Given the description of an element on the screen output the (x, y) to click on. 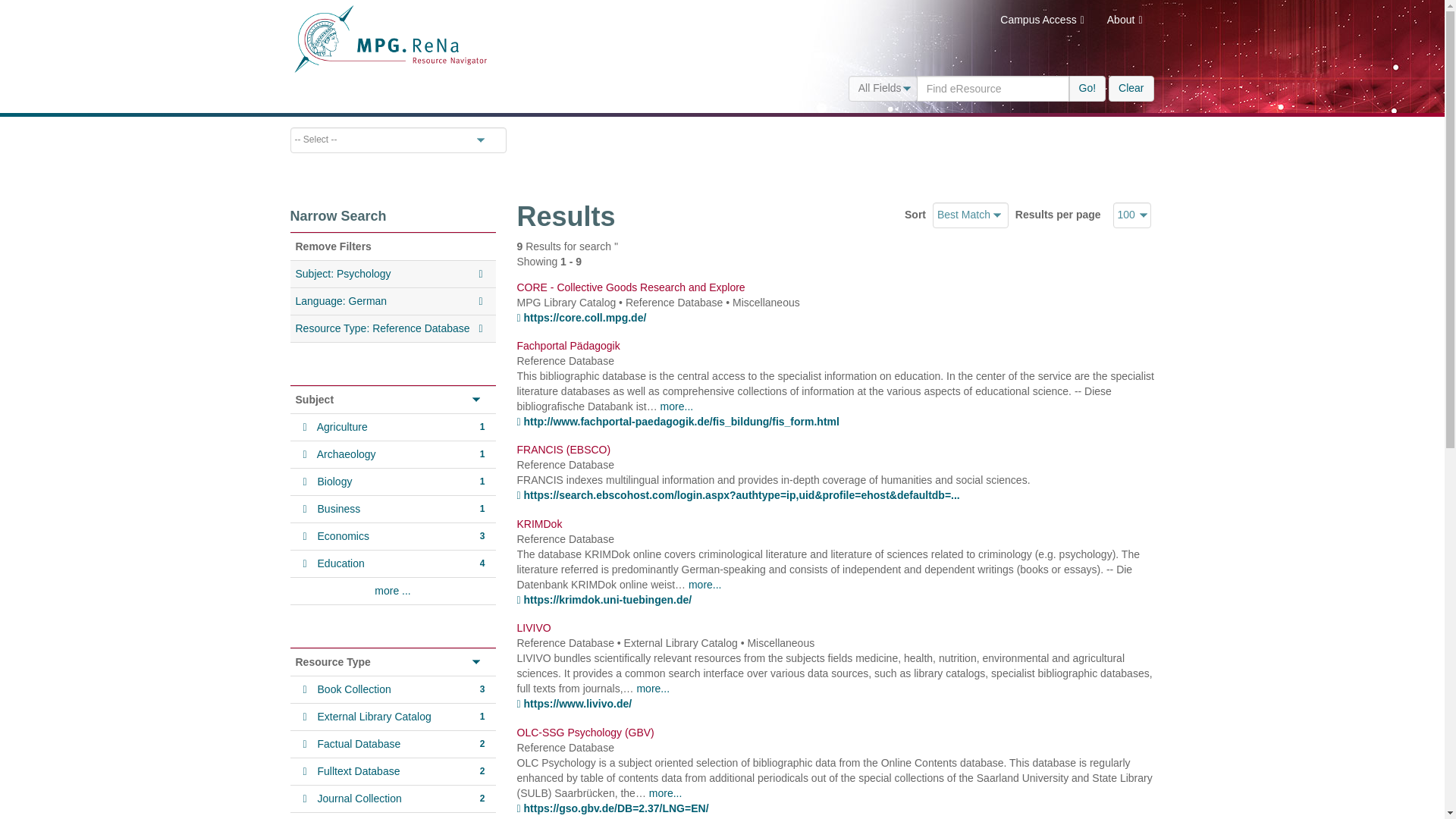
LIVIVO (533, 627)
Campus Access (1042, 19)
more... (705, 584)
more... (652, 688)
more... (677, 406)
About (1125, 19)
Go! (1087, 88)
Skip to content (34, 7)
KRIMDok (539, 523)
